Given the description of an element on the screen output the (x, y) to click on. 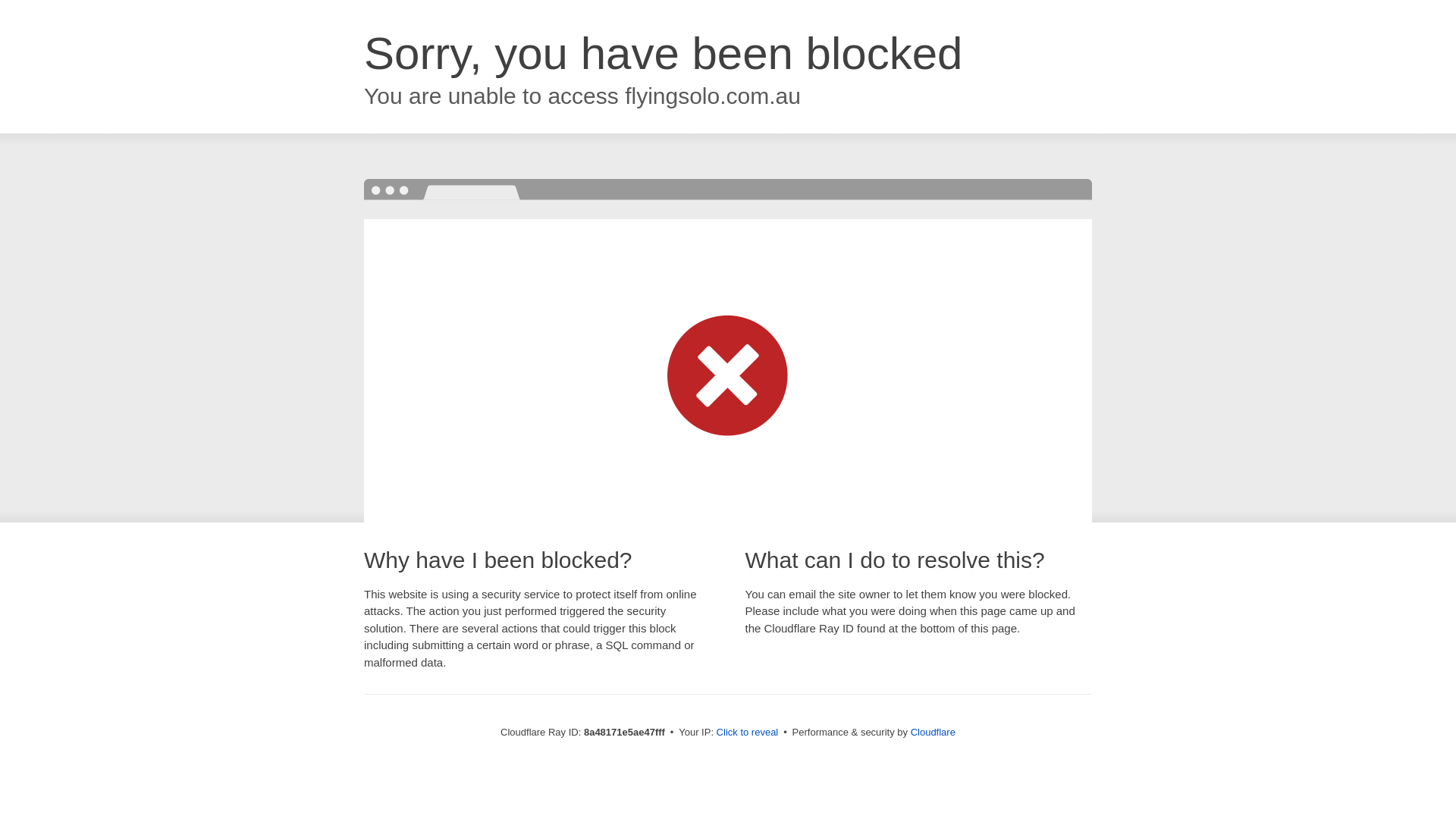
Cloudflare (933, 731)
Click to reveal (747, 732)
